Given the description of an element on the screen output the (x, y) to click on. 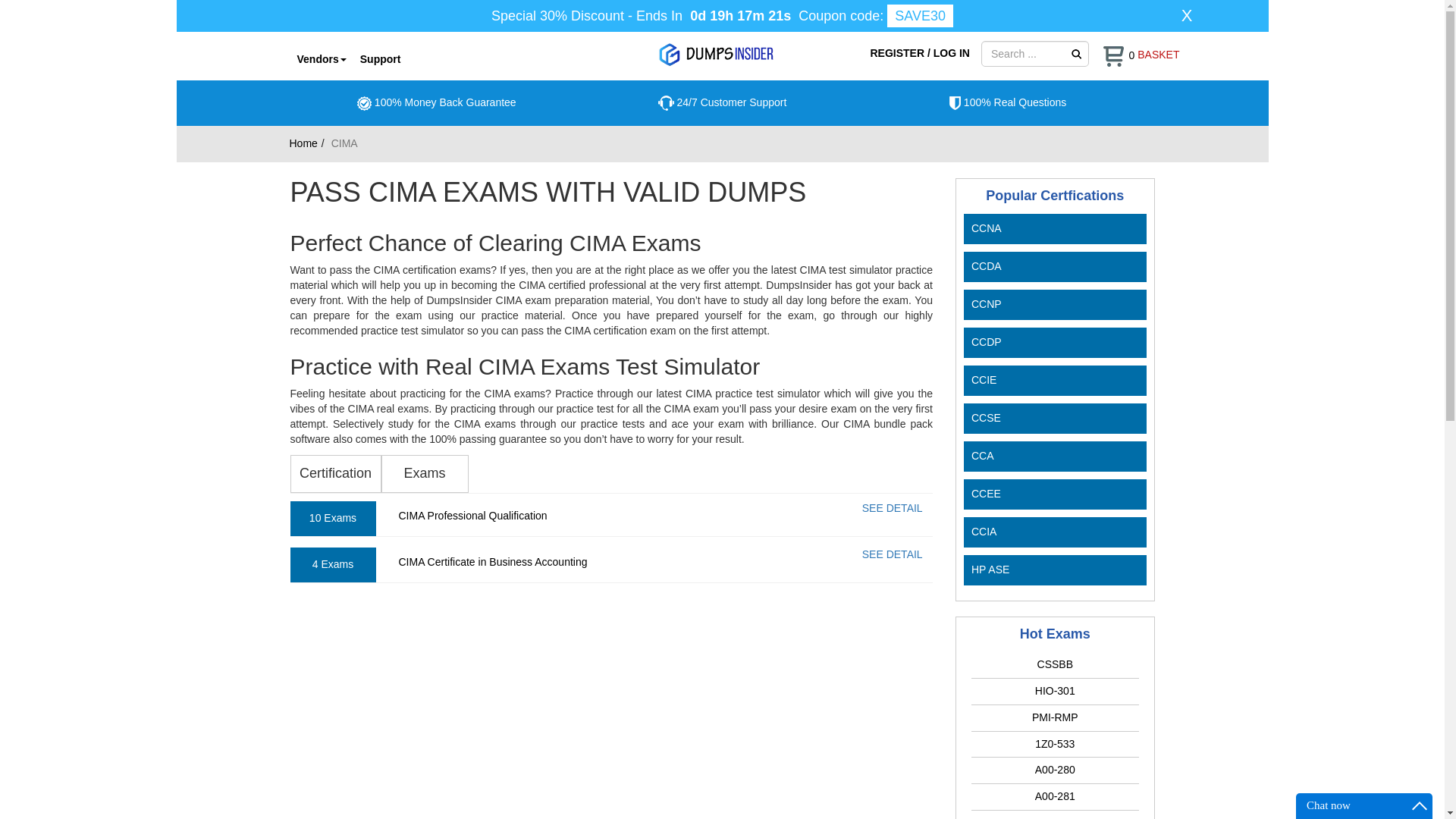
CIMA Professional Qualification (472, 515)
Support (380, 58)
SEE DETAIL (892, 553)
CIMA Certificate in Business Accounting (493, 562)
Home (303, 143)
LOG IN (951, 52)
SEE DETAIL (892, 508)
Vendors (320, 58)
REGISTER (897, 52)
